Given the description of an element on the screen output the (x, y) to click on. 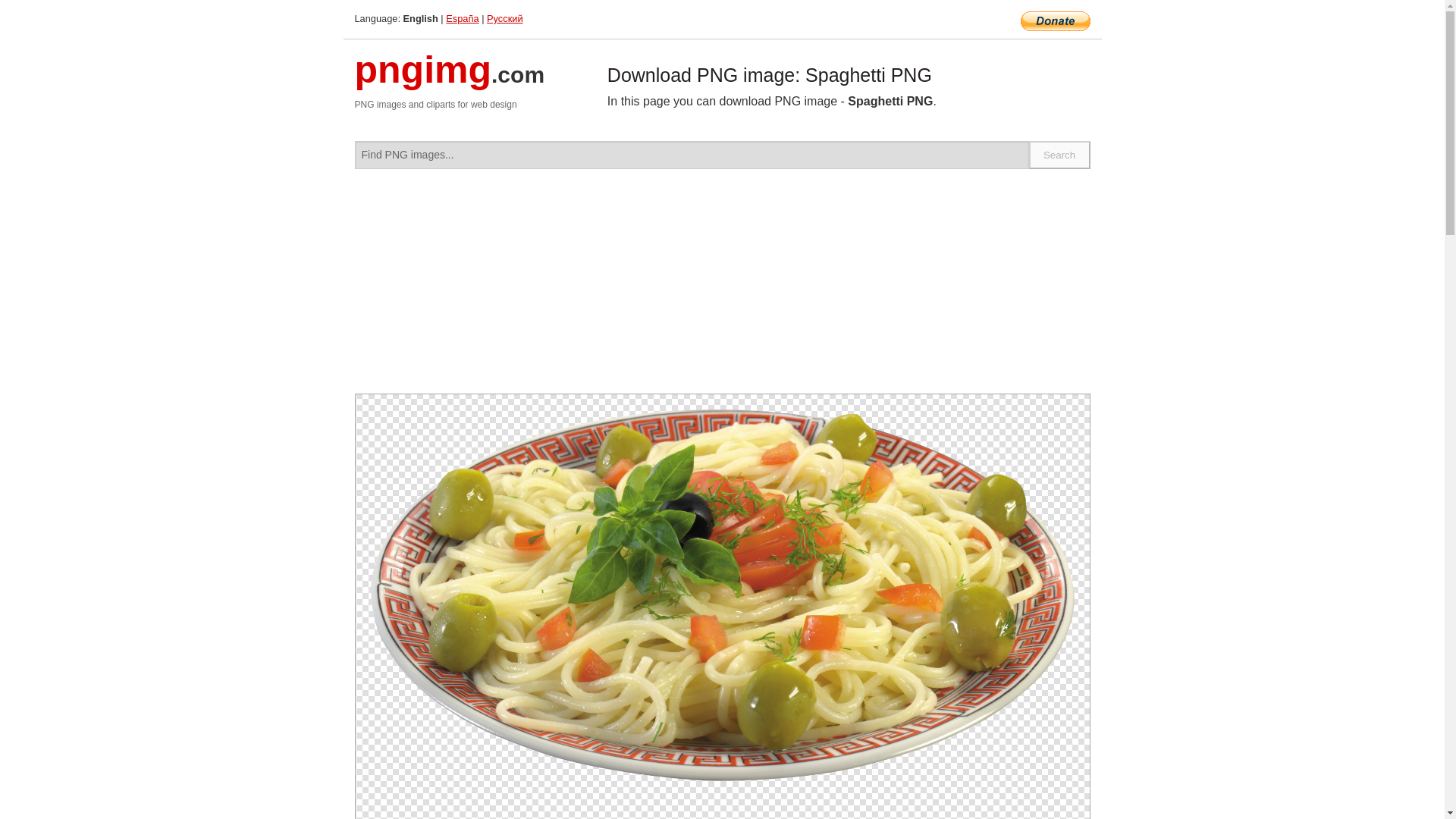
Search (1059, 154)
pngimg.com (449, 78)
Search (1059, 154)
